Given the description of an element on the screen output the (x, y) to click on. 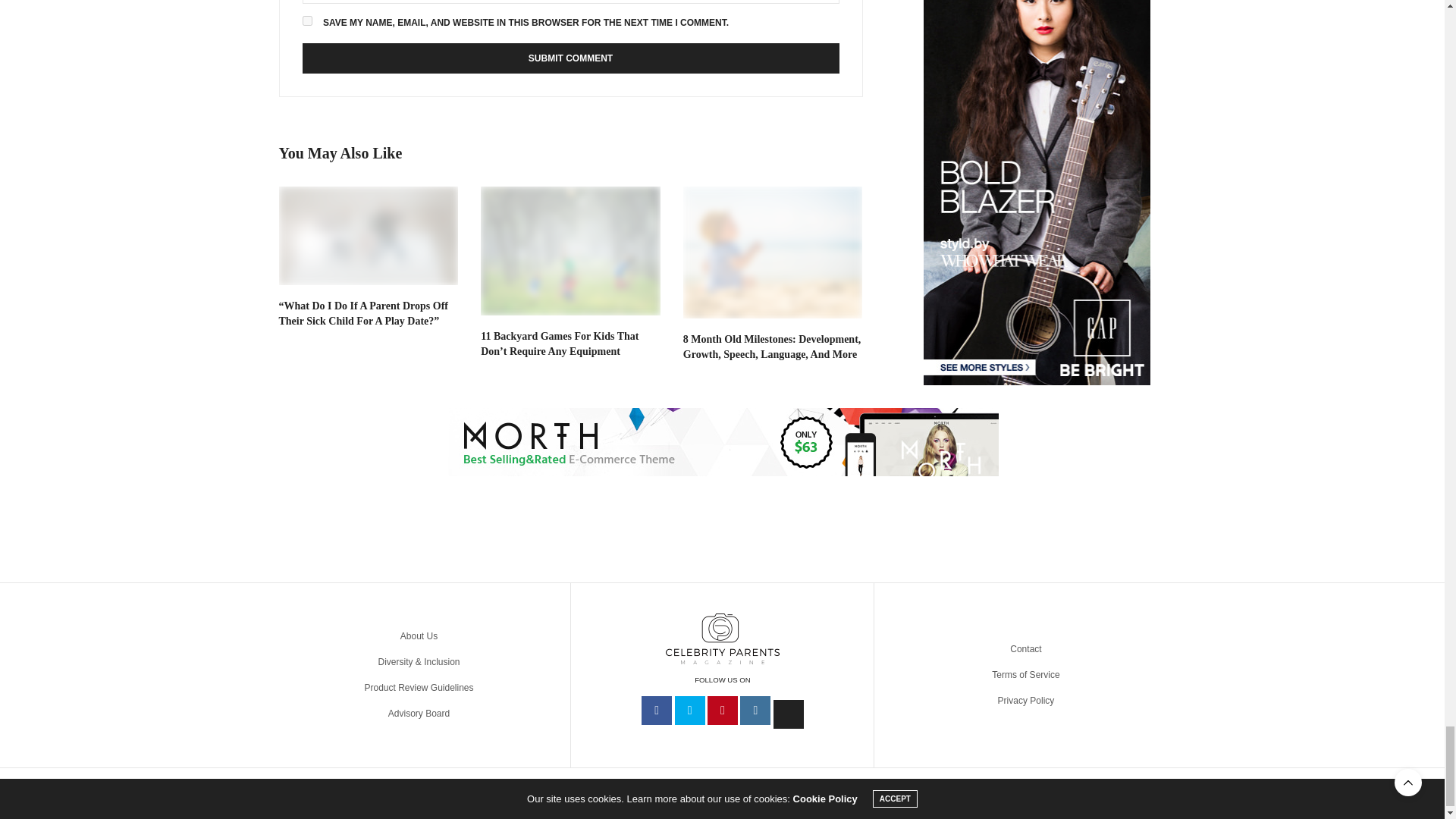
Submit Comment (569, 58)
yes (306, 20)
